Given the description of an element on the screen output the (x, y) to click on. 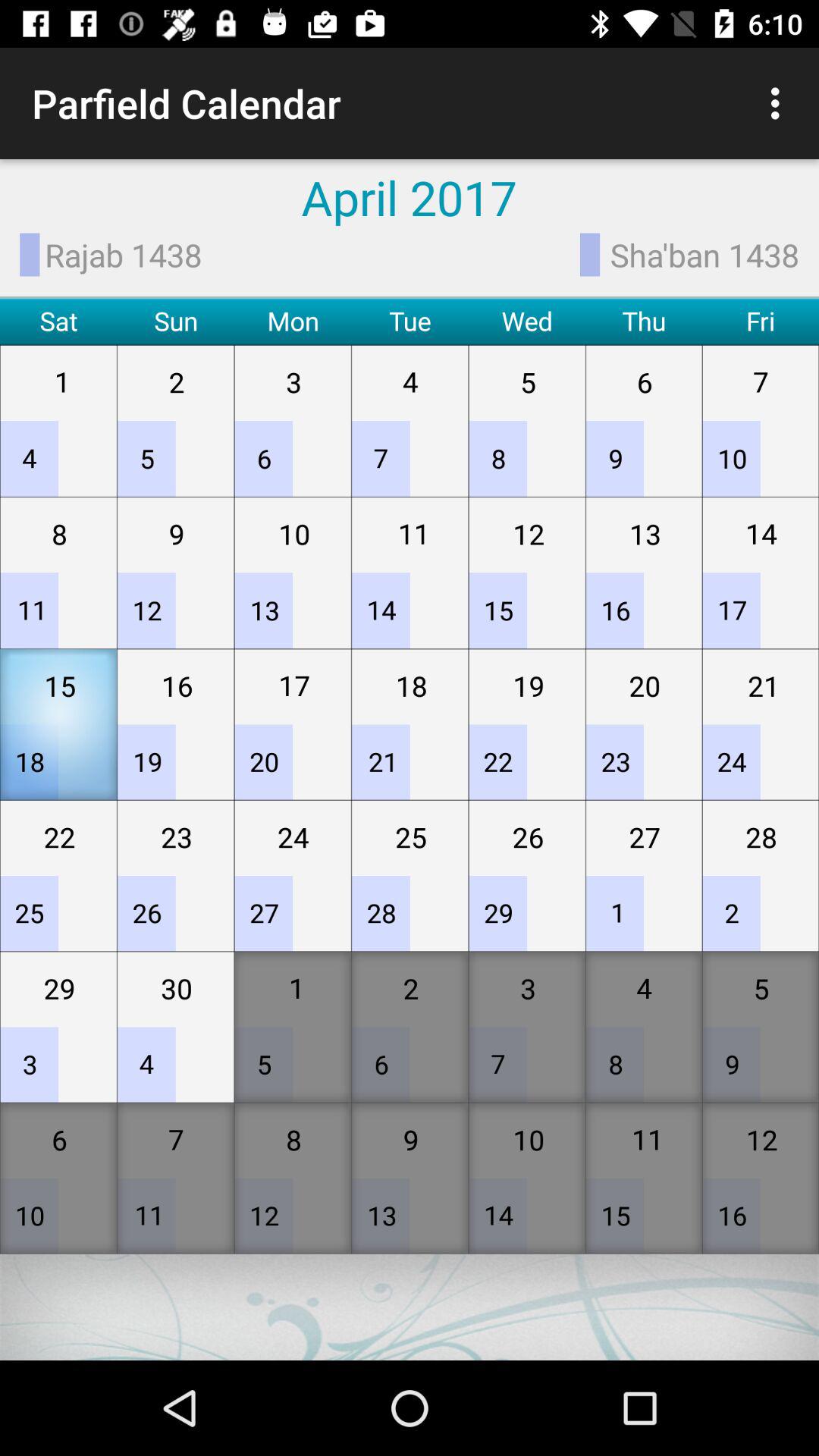
select item to the right of april 2017 item (779, 103)
